Given the description of an element on the screen output the (x, y) to click on. 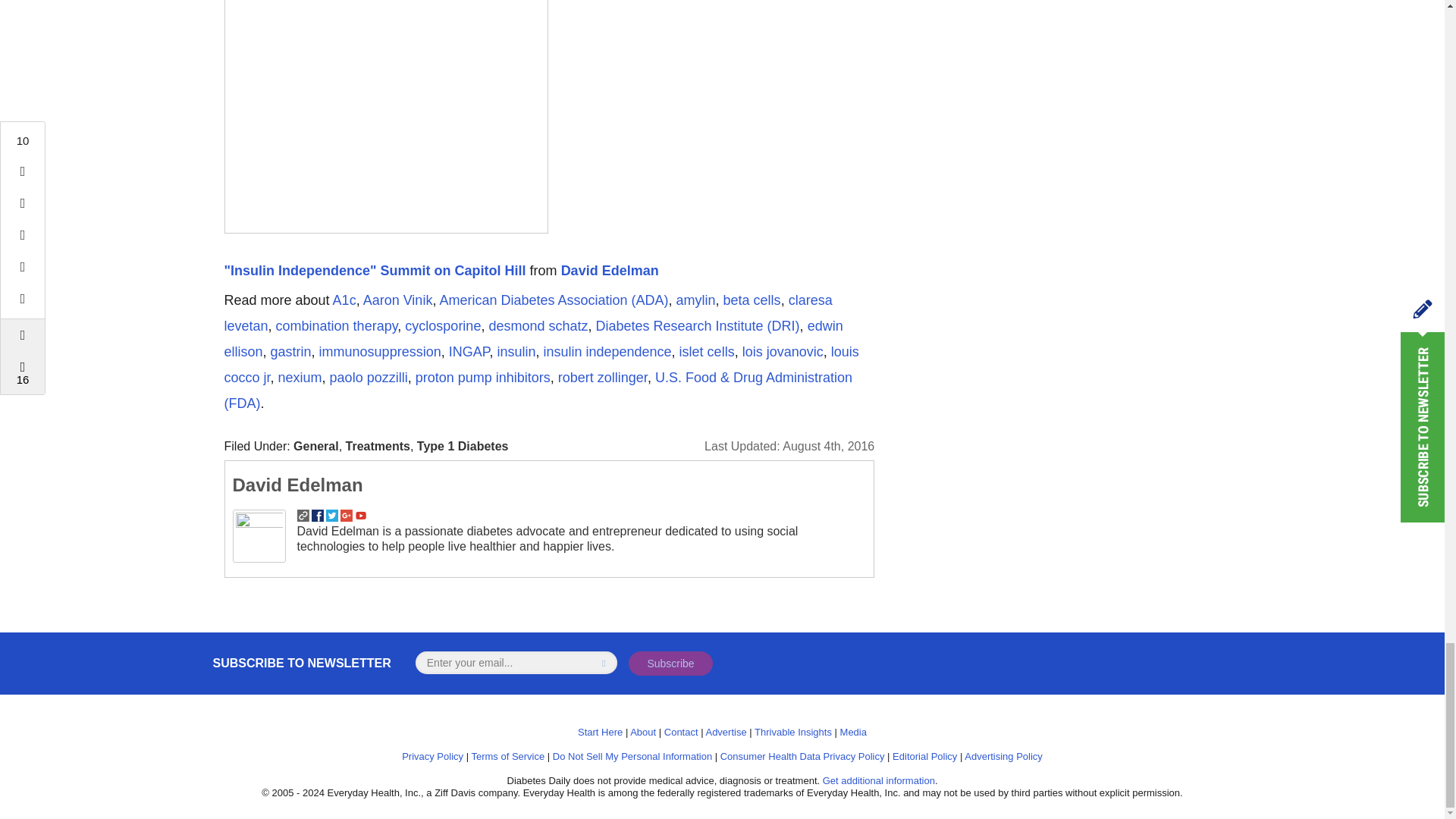
"Insulin Independence" Summit on Capitol Hill (374, 270)
All posts by David Edelman (296, 485)
